Given the description of an element on the screen output the (x, y) to click on. 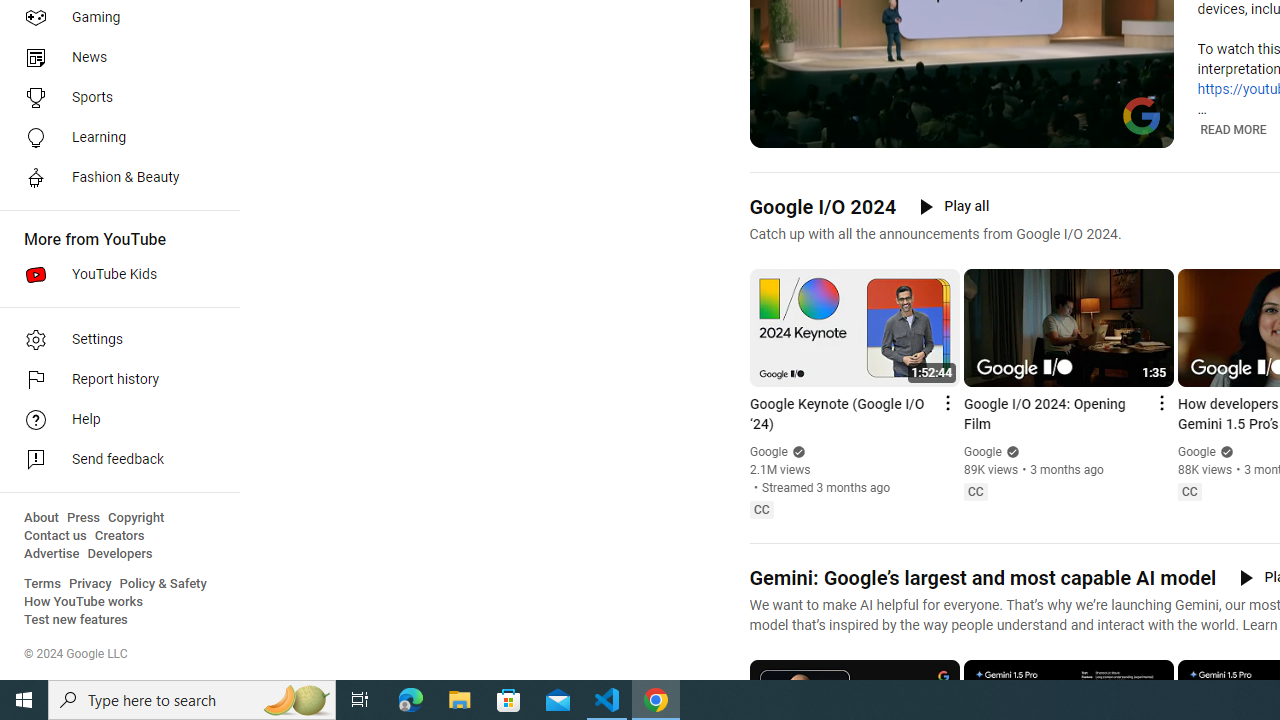
Microsoft Edge (411, 699)
Microsoft Store (509, 699)
MadeByGoogle '24: Intro (985, 130)
Task View (359, 699)
YouTube Kids (113, 274)
Creators (118, 536)
Mute (m) (815, 130)
Developers (120, 554)
Visual Studio Code - 1 running window (607, 699)
READ MORE (1233, 129)
File Explorer (460, 699)
Copyright (136, 518)
